Given the description of an element on the screen output the (x, y) to click on. 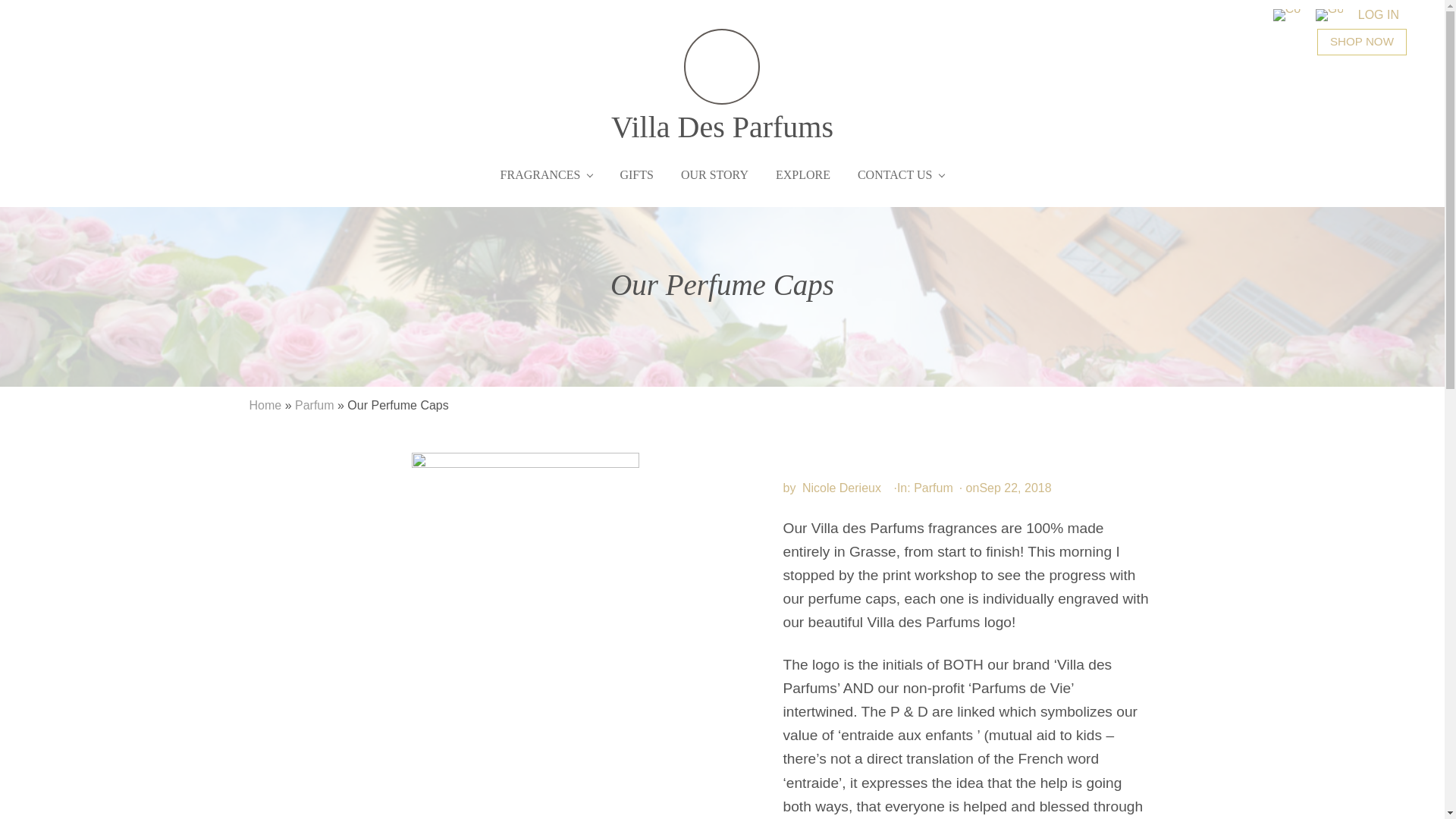
OUR STORY (713, 174)
CONTACT US (901, 174)
Home (264, 404)
Contact Us (1286, 15)
Villa Des Parfums (721, 86)
SHOP NOW (1361, 41)
Go to Cart (1329, 15)
Nicole Derieux (840, 487)
EXPLORE (802, 174)
